Given the description of an element on the screen output the (x, y) to click on. 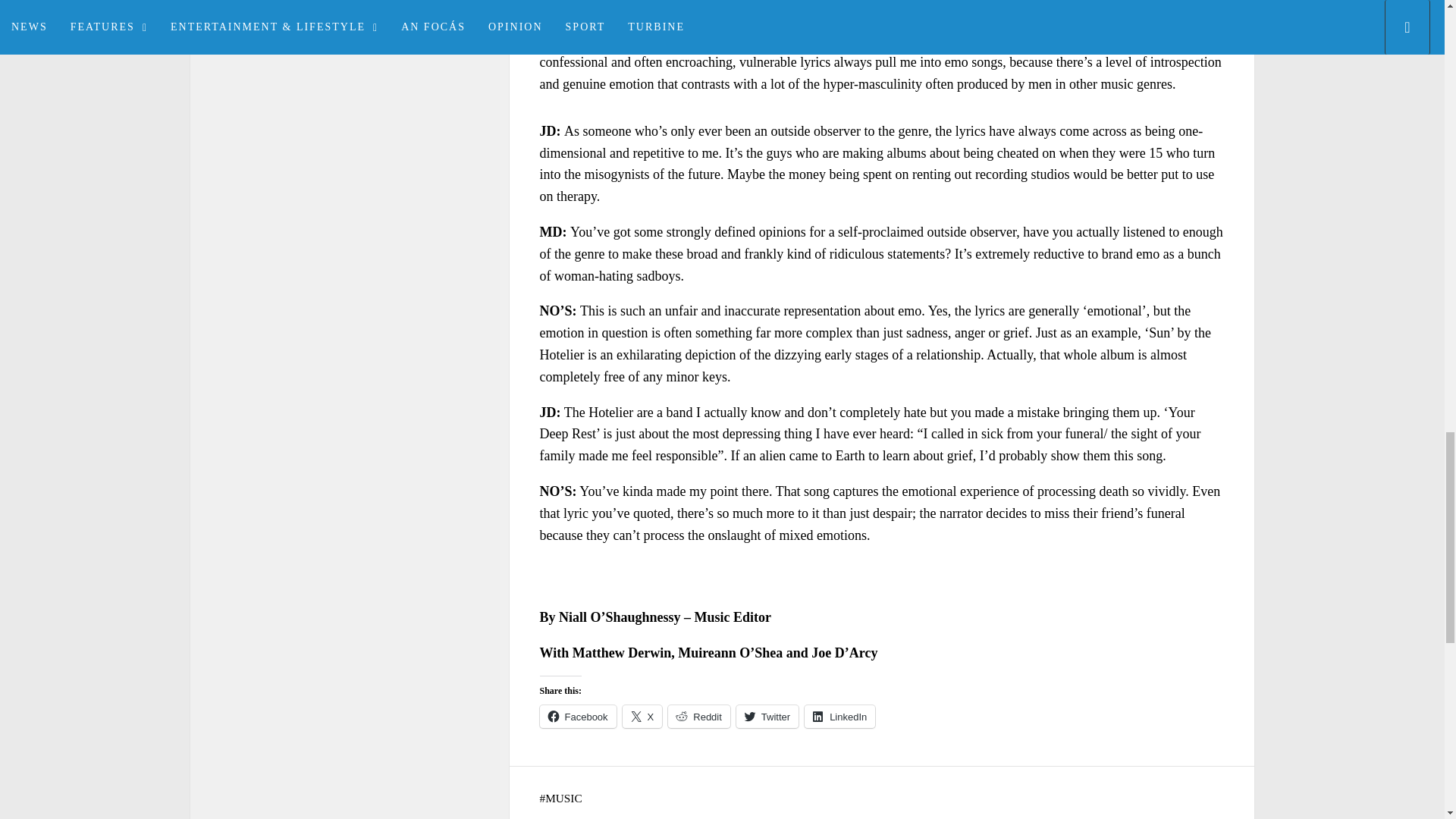
Reddit (699, 716)
Click to share on Twitter (766, 716)
X (642, 716)
Facebook (577, 716)
Click to share on X (642, 716)
Click to share on Facebook (577, 716)
LinkedIn (840, 716)
Click to share on Reddit (699, 716)
Click to share on LinkedIn (840, 716)
Twitter (766, 716)
